Given the description of an element on the screen output the (x, y) to click on. 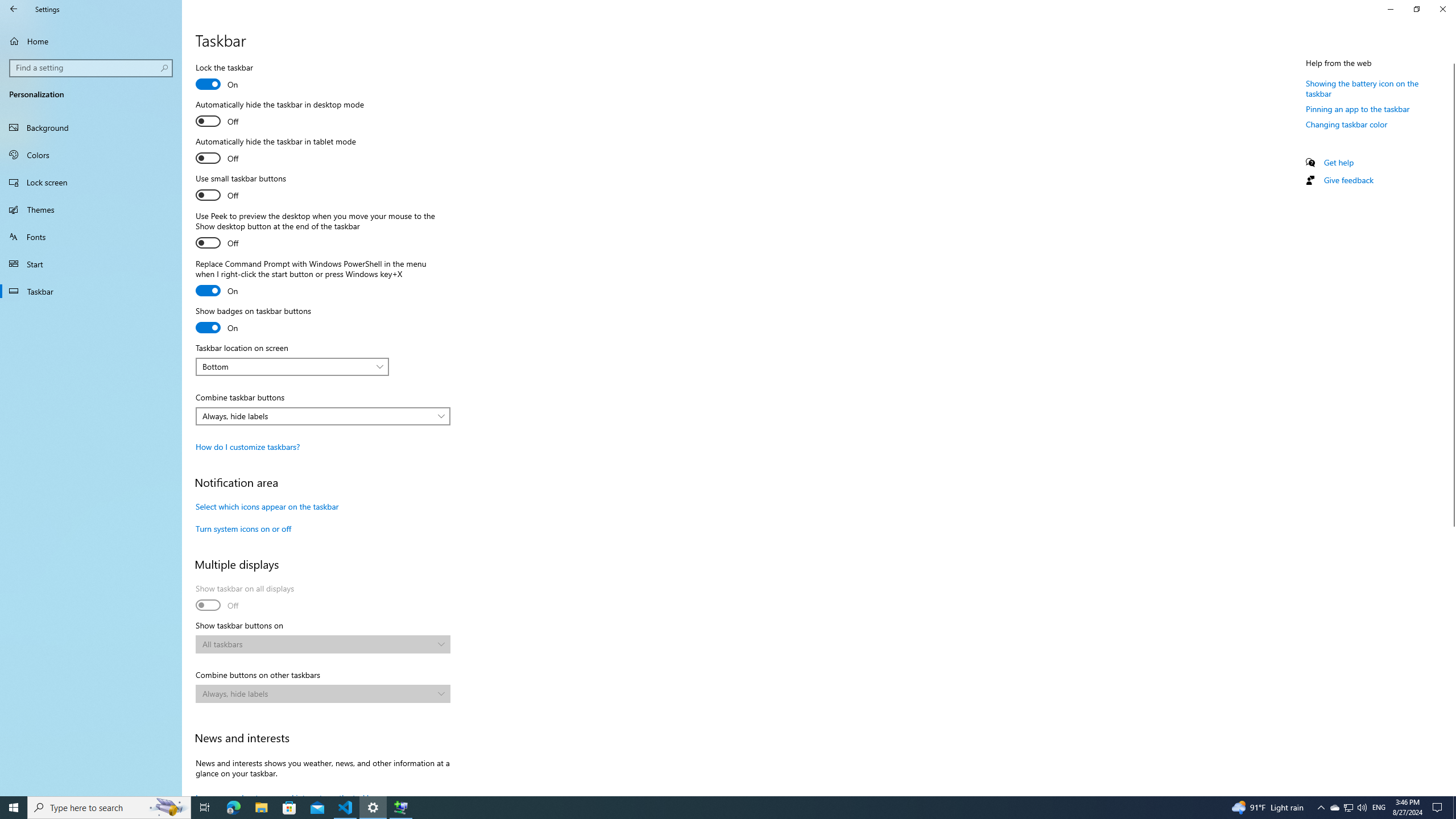
Vertical Small Increase (1451, 791)
All taskbars (317, 643)
Get help (1338, 162)
Automatically hide the taskbar in tablet mode (275, 151)
Close Settings (1442, 9)
Vertical Small Decrease (1451, 58)
Automatically hide the taskbar in desktop mode (279, 114)
Show badges on taskbar buttons (253, 320)
How do I customize taskbars? (247, 446)
Taskbar location on screen (291, 366)
Use small taskbar buttons (240, 187)
